Given the description of an element on the screen output the (x, y) to click on. 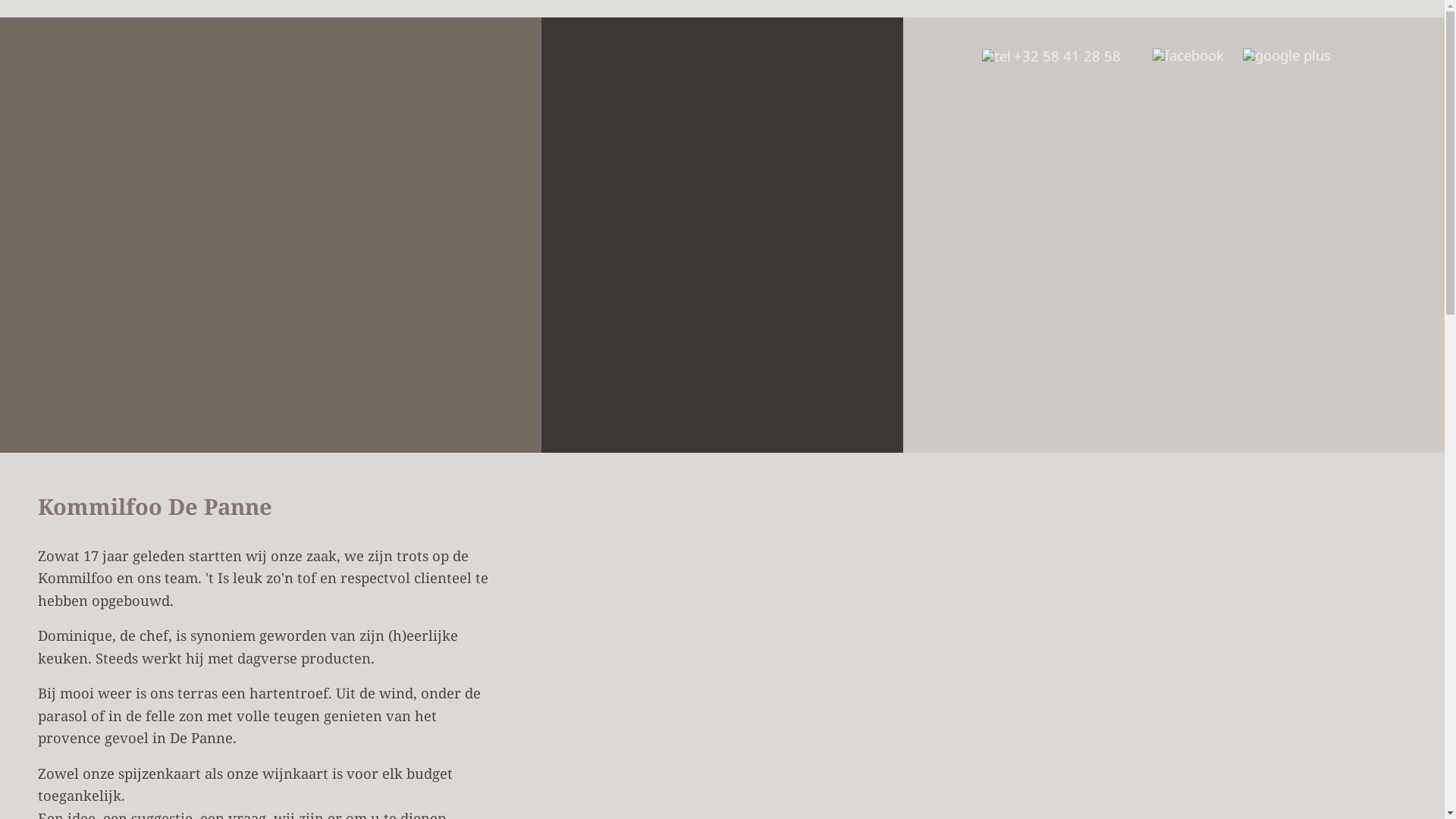
+32 58 41 28 58 Element type: text (1051, 55)
